Given the description of an element on the screen output the (x, y) to click on. 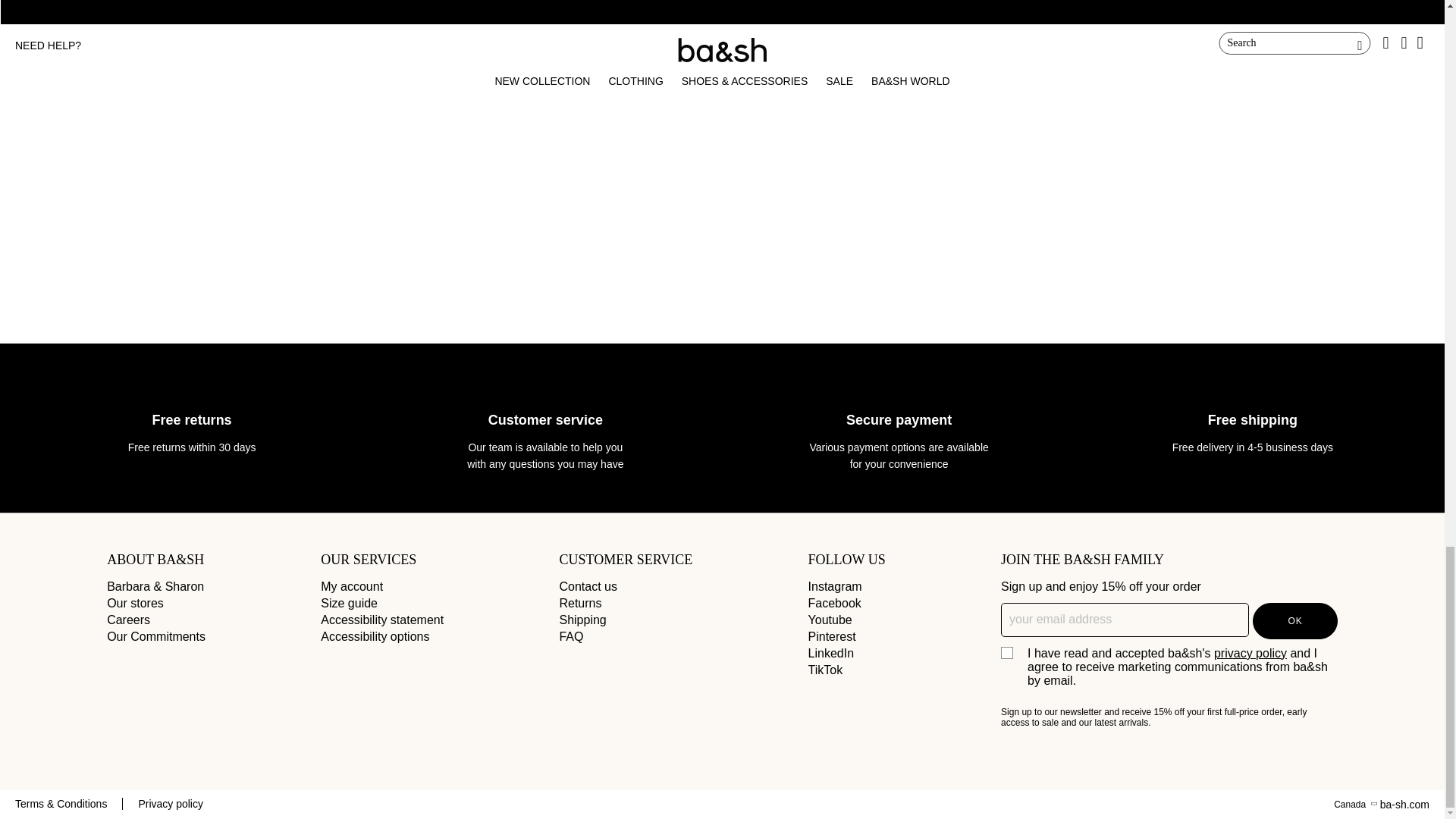
on (1005, 651)
